Given the description of an element on the screen output the (x, y) to click on. 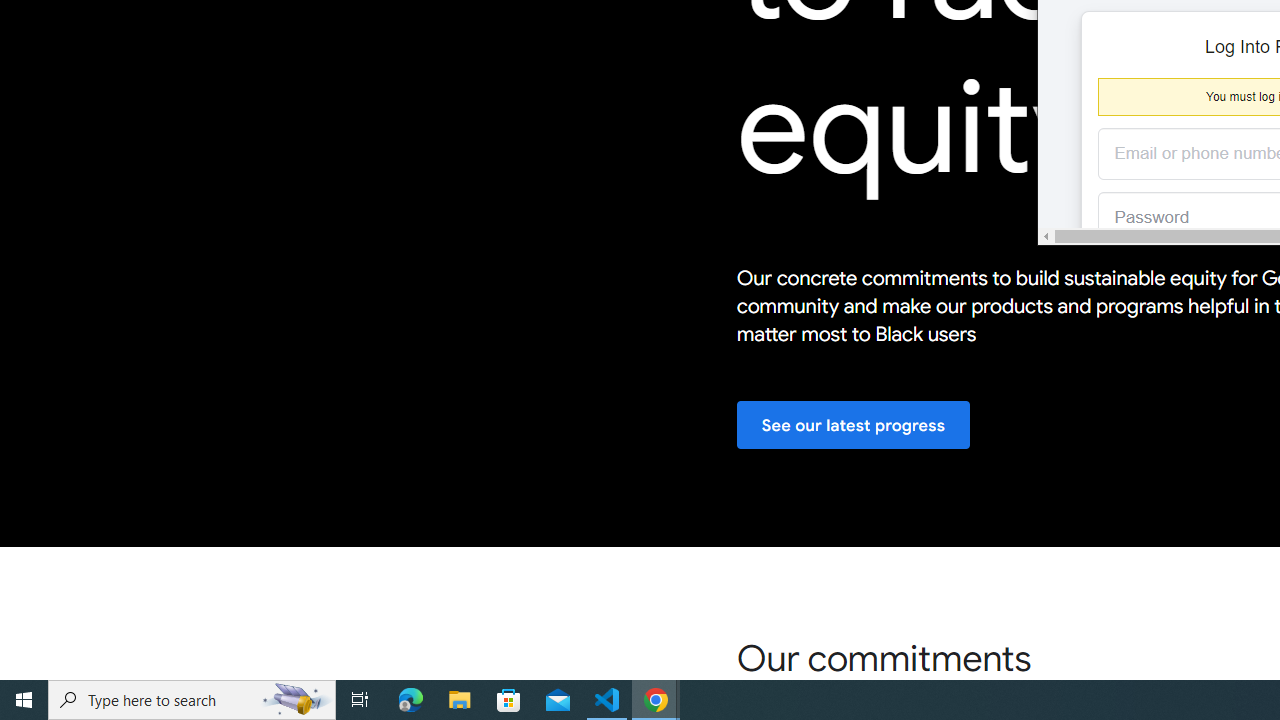
Microsoft Edge (411, 699)
Type here to search (191, 699)
See our latest progress (853, 425)
File Explorer (460, 699)
Visual Studio Code - 1 running window (607, 699)
Start (24, 699)
Search highlights icon opens search home window (295, 699)
Microsoft Store (509, 699)
Google Chrome - 3 running windows (656, 699)
Task View (359, 699)
